Given the description of an element on the screen output the (x, y) to click on. 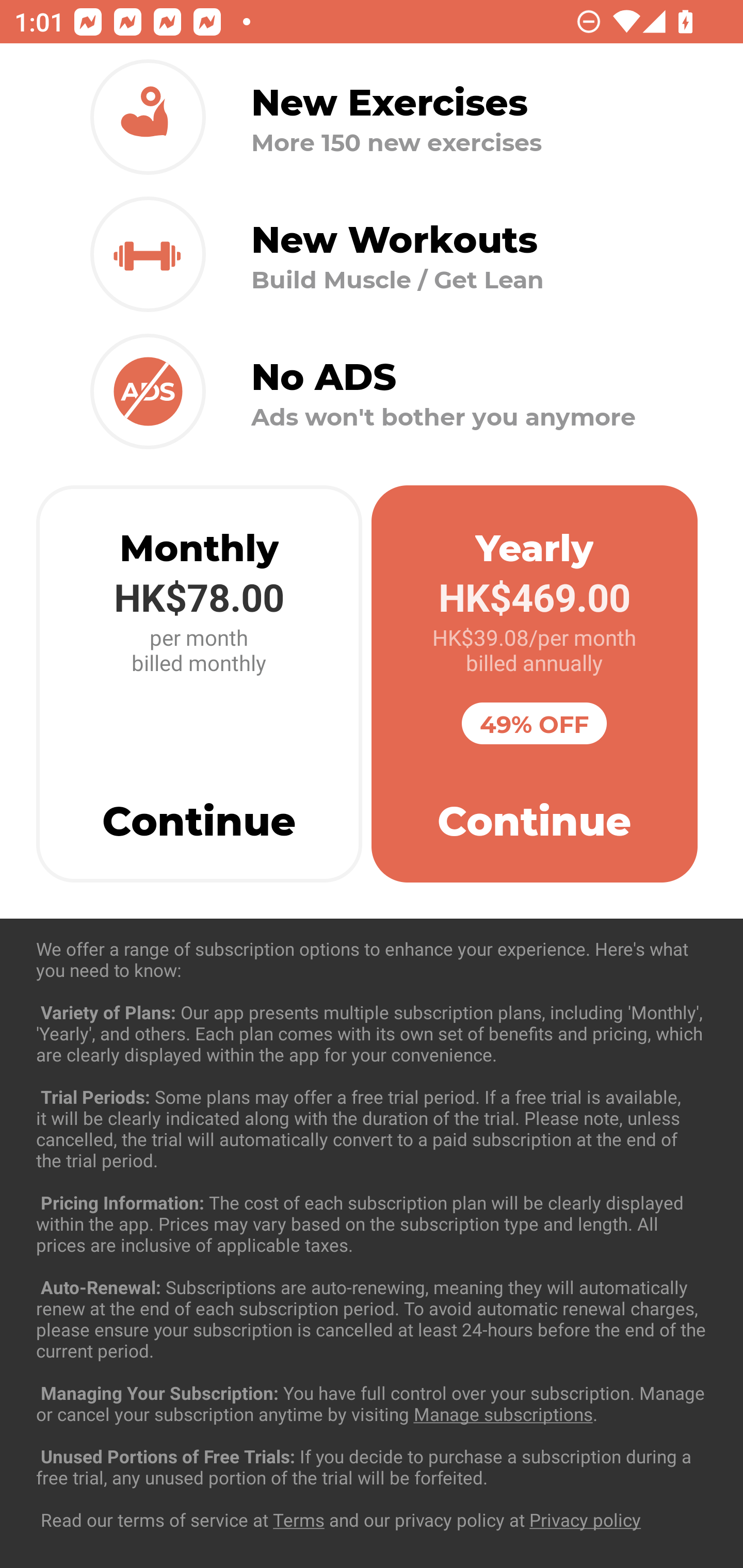
Monthly HK$78.00 per month
billed monthly Continue (199, 684)
Exercise Chest 37 exercises (371, 1033)
Exercise Forearms 4 exercises (371, 1232)
Exercise Legs 36 exercises (371, 1430)
